Given the description of an element on the screen output the (x, y) to click on. 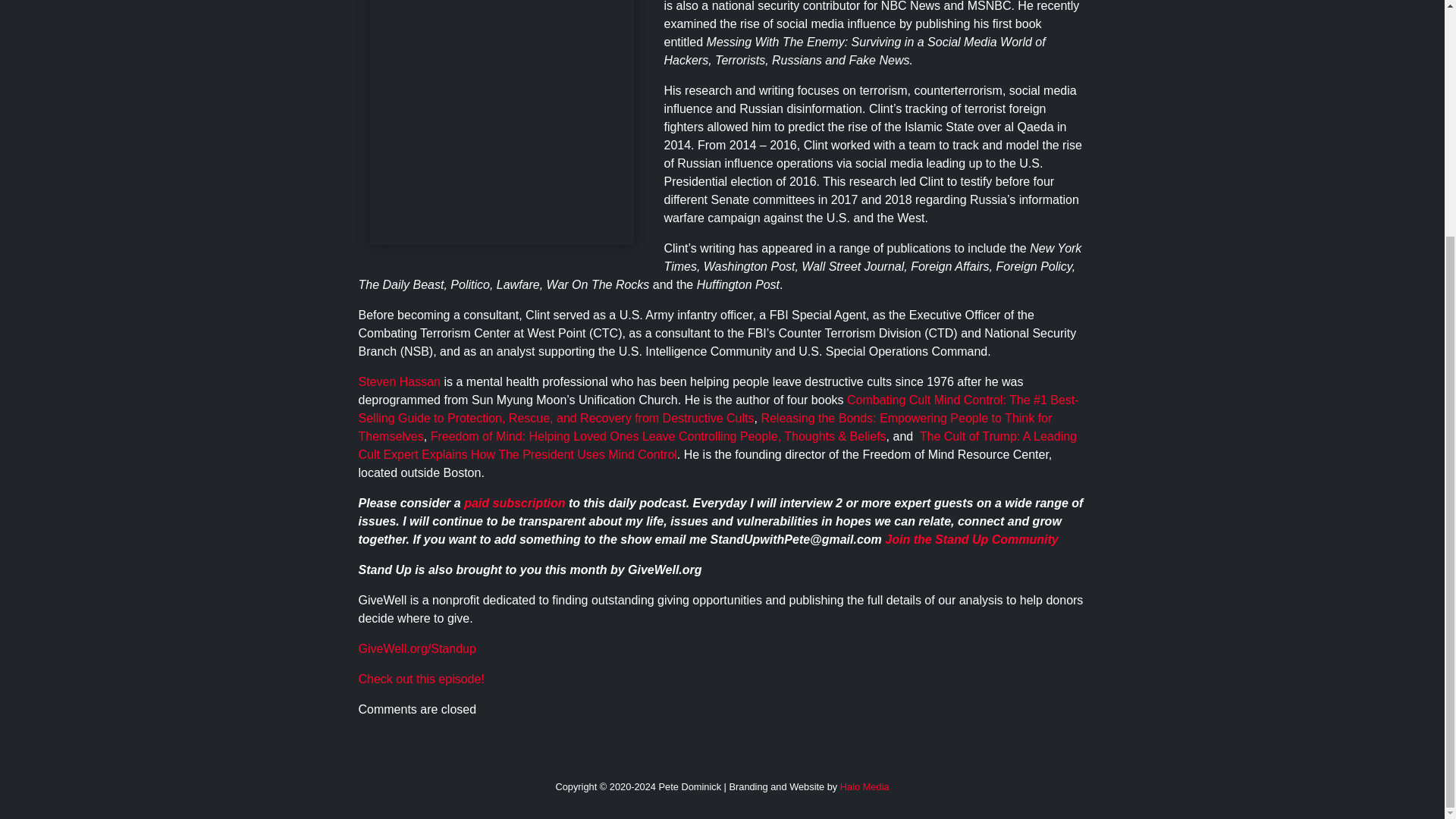
Check out this episode! (420, 678)
Join the Stand Up Community (971, 539)
paid subscription (514, 502)
Steven Hassan (399, 381)
Halo Media (864, 786)
